Given the description of an element on the screen output the (x, y) to click on. 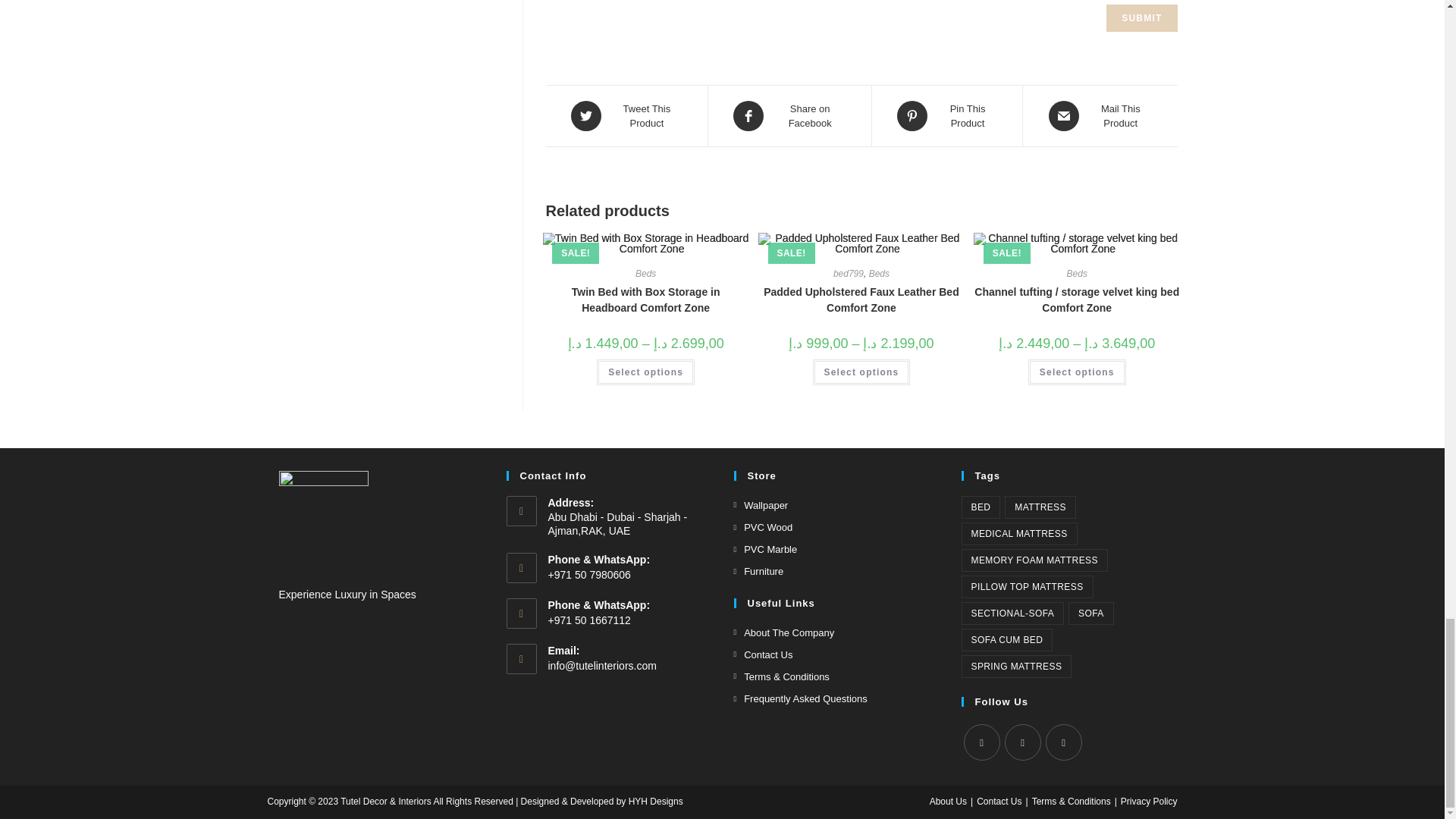
Submit (1141, 17)
